Given the description of an element on the screen output the (x, y) to click on. 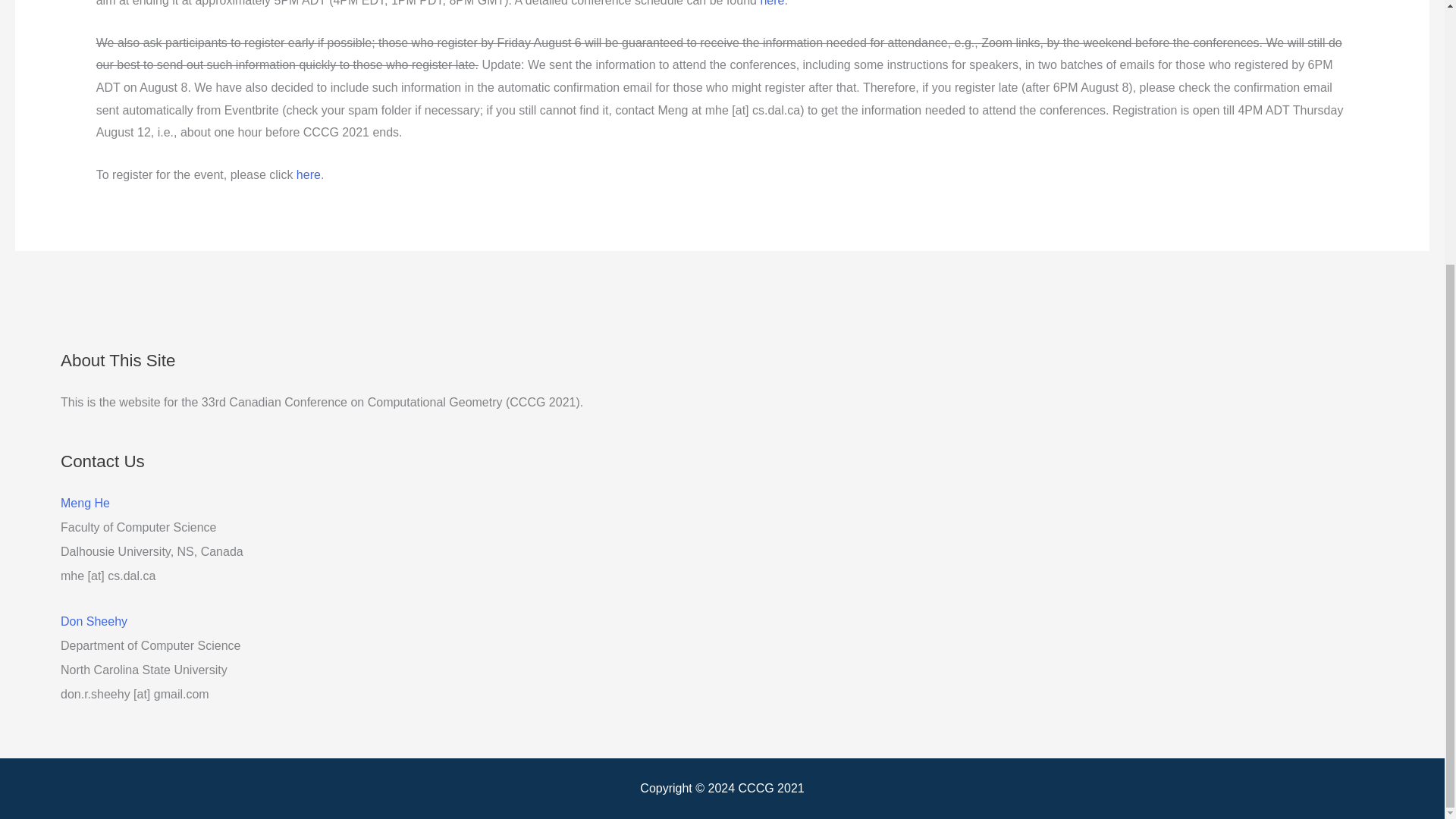
here (308, 174)
Don Sheehy (94, 621)
Meng He (85, 502)
here (772, 3)
